Given the description of an element on the screen output the (x, y) to click on. 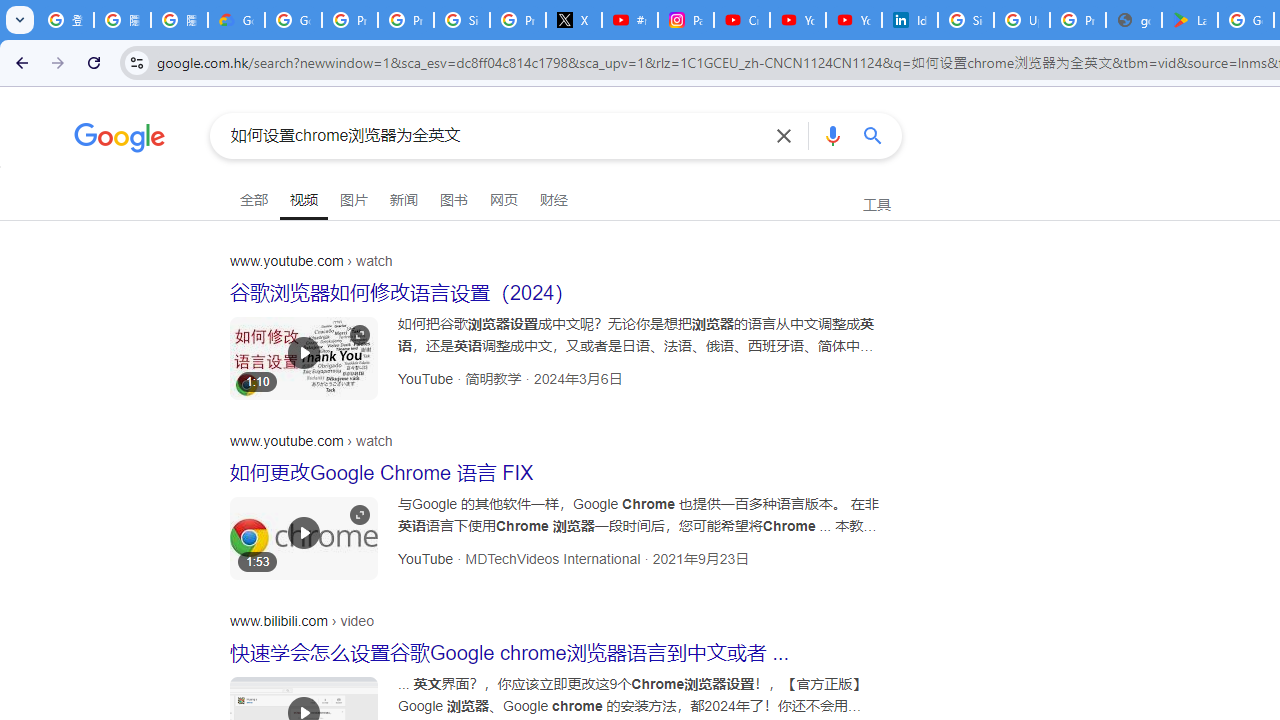
Identity verification via Persona | LinkedIn Help (909, 20)
Google (120, 139)
X (573, 20)
